Given the description of an element on the screen output the (x, y) to click on. 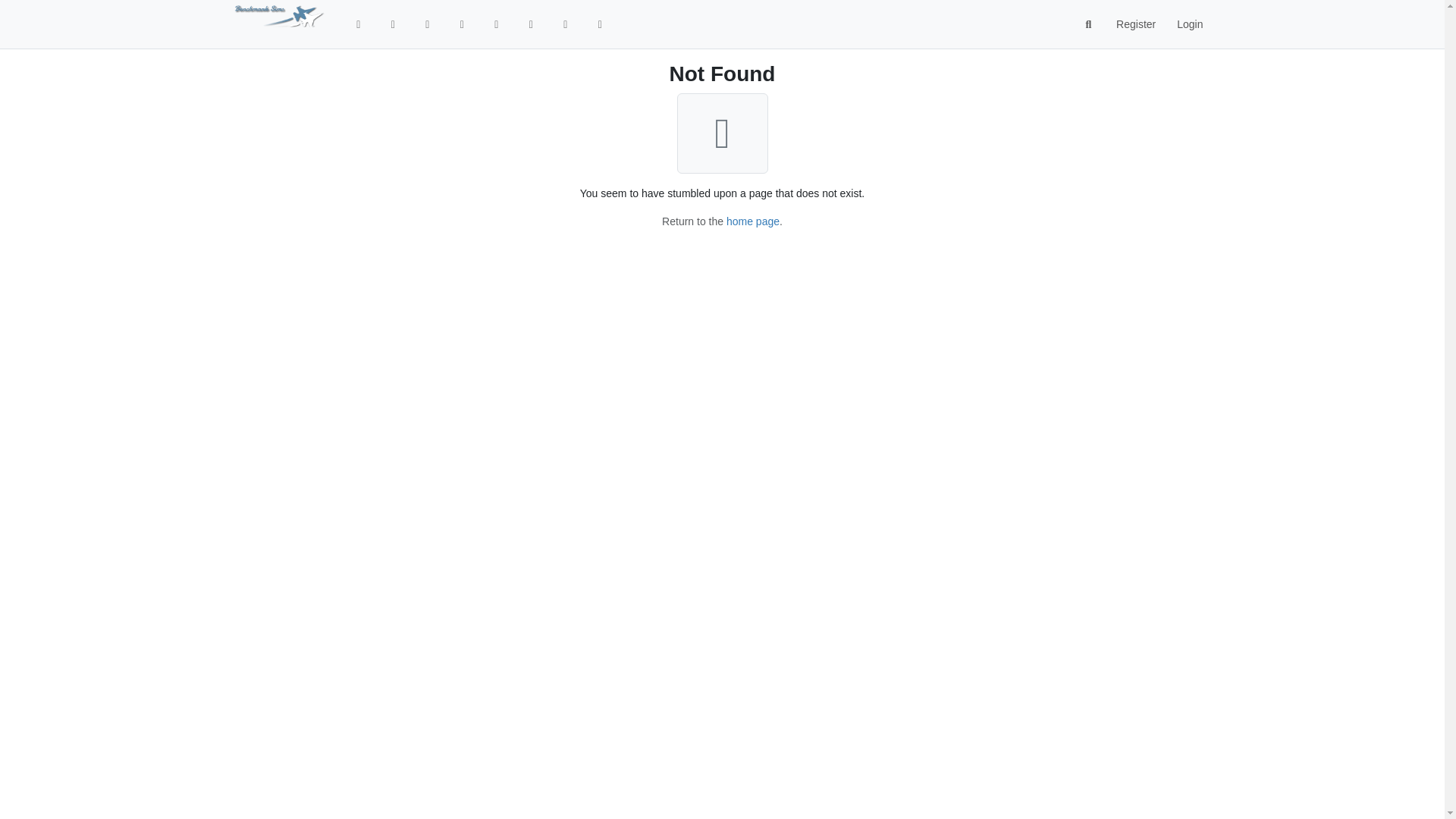
Search (1088, 24)
home page (752, 221)
Discord (565, 24)
Recent (427, 24)
Website (496, 24)
Categories (357, 24)
Wiki (530, 24)
Popular (462, 24)
Login (1189, 24)
Contact (600, 24)
Register (1135, 24)
Unread (392, 24)
